Given the description of an element on the screen output the (x, y) to click on. 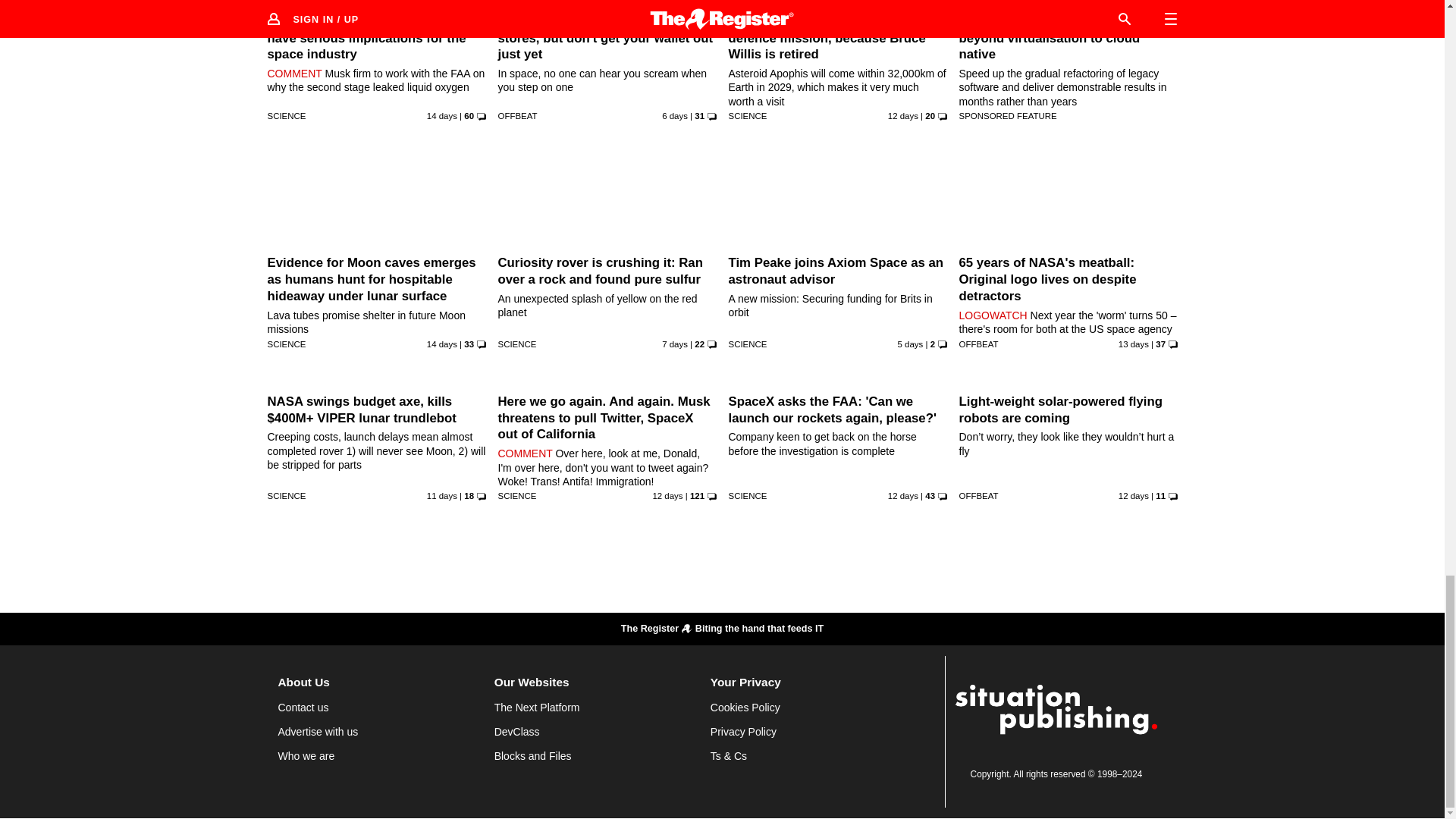
17 Jul 2024 6:32 (903, 115)
15 Jul 2024 12:51 (441, 115)
23 Jul 2024 10:45 (674, 115)
